Given the description of an element on the screen output the (x, y) to click on. 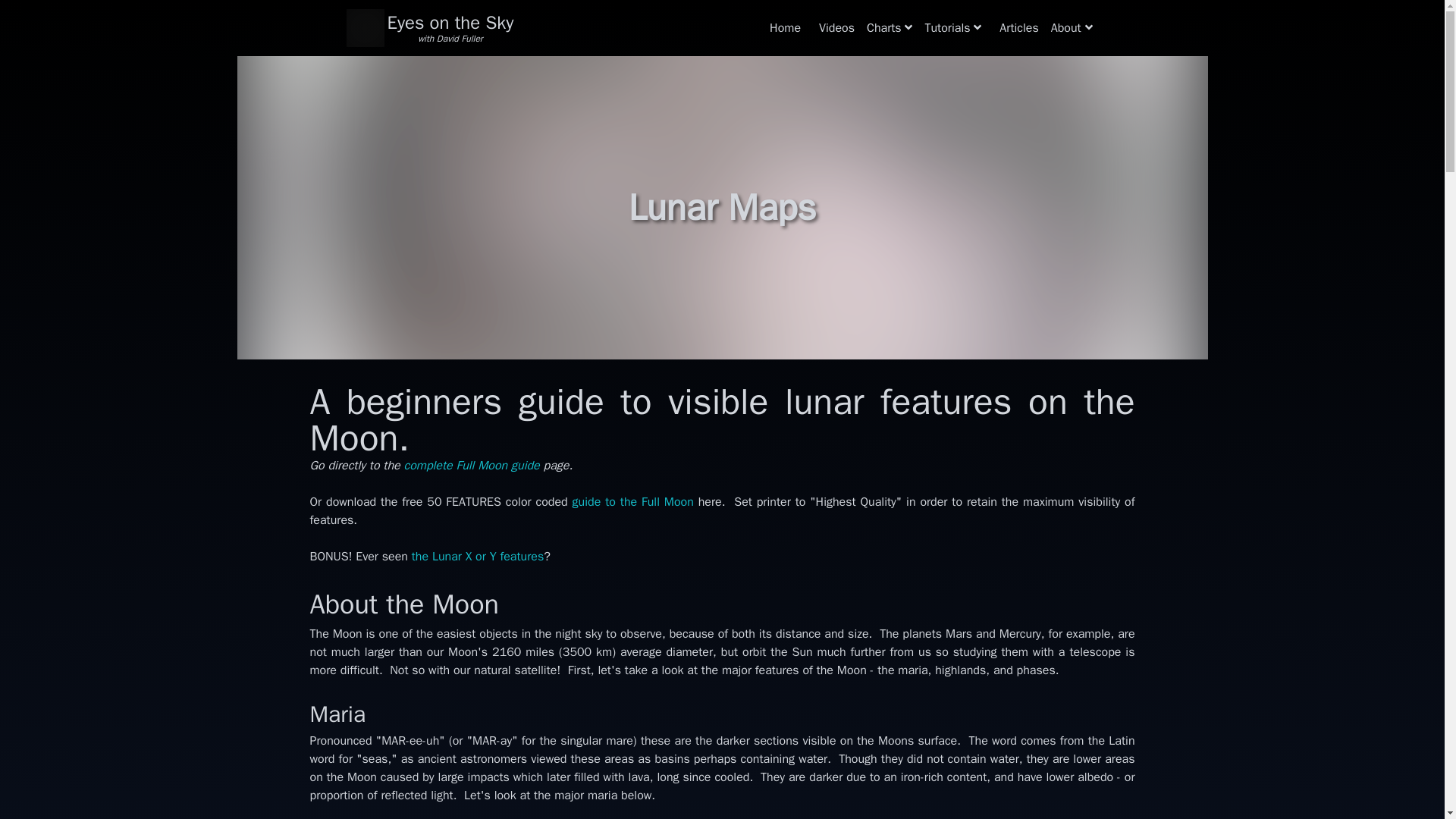
About (1072, 27)
Charts (889, 27)
guide to the Full Moon (633, 501)
complete Full Moon guide (470, 465)
Videos (836, 27)
Articles (1017, 27)
Tutorials (952, 27)
the Lunar X or Y features (477, 556)
Home (784, 27)
